Given the description of an element on the screen output the (x, y) to click on. 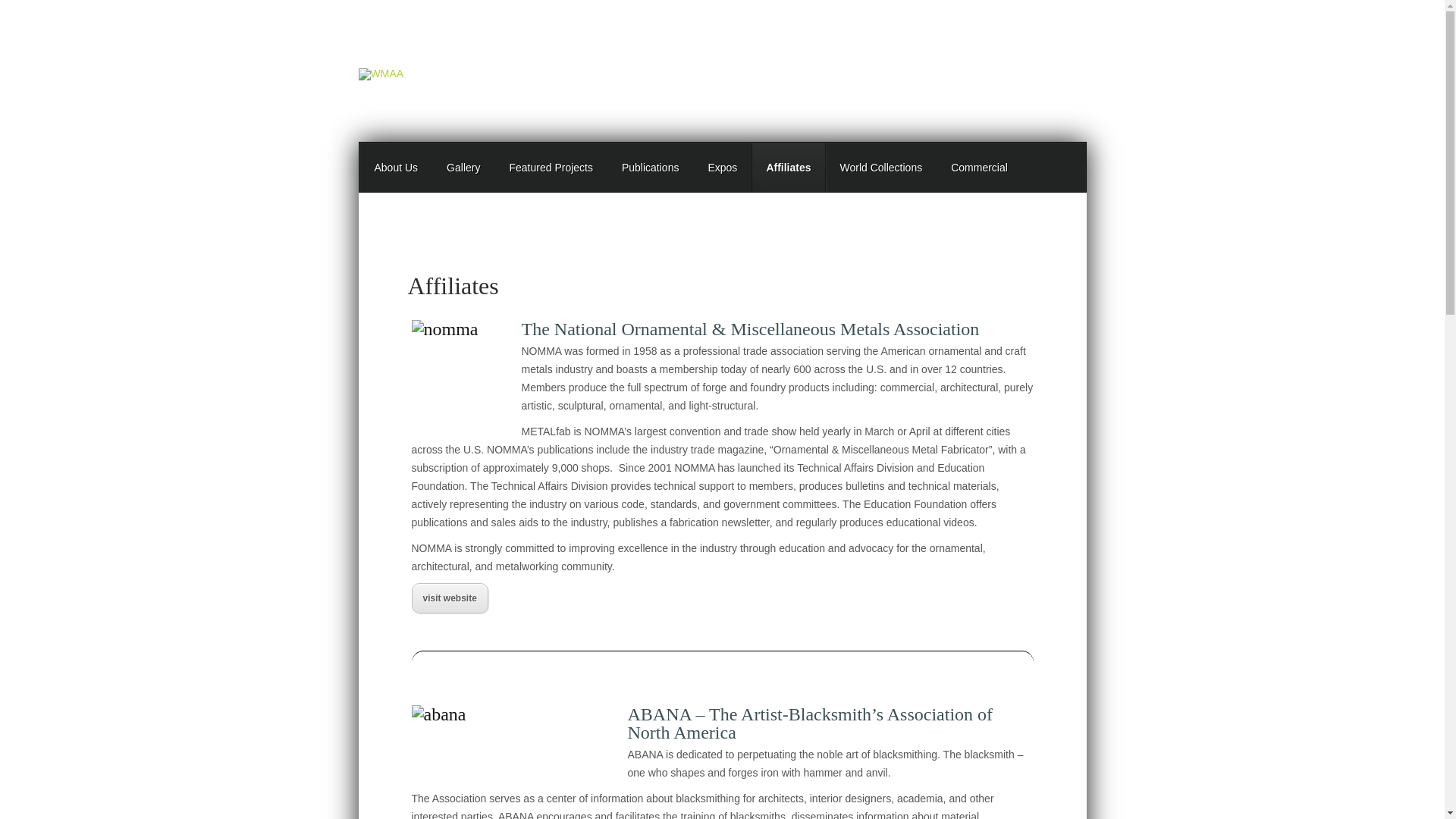
Expos (722, 168)
Gallery (463, 168)
Publications (650, 168)
Affiliates (788, 168)
Commercial (979, 168)
Featured Projects (551, 168)
visit website (448, 599)
World Collections (880, 168)
About Us (395, 168)
